Given the description of an element on the screen output the (x, y) to click on. 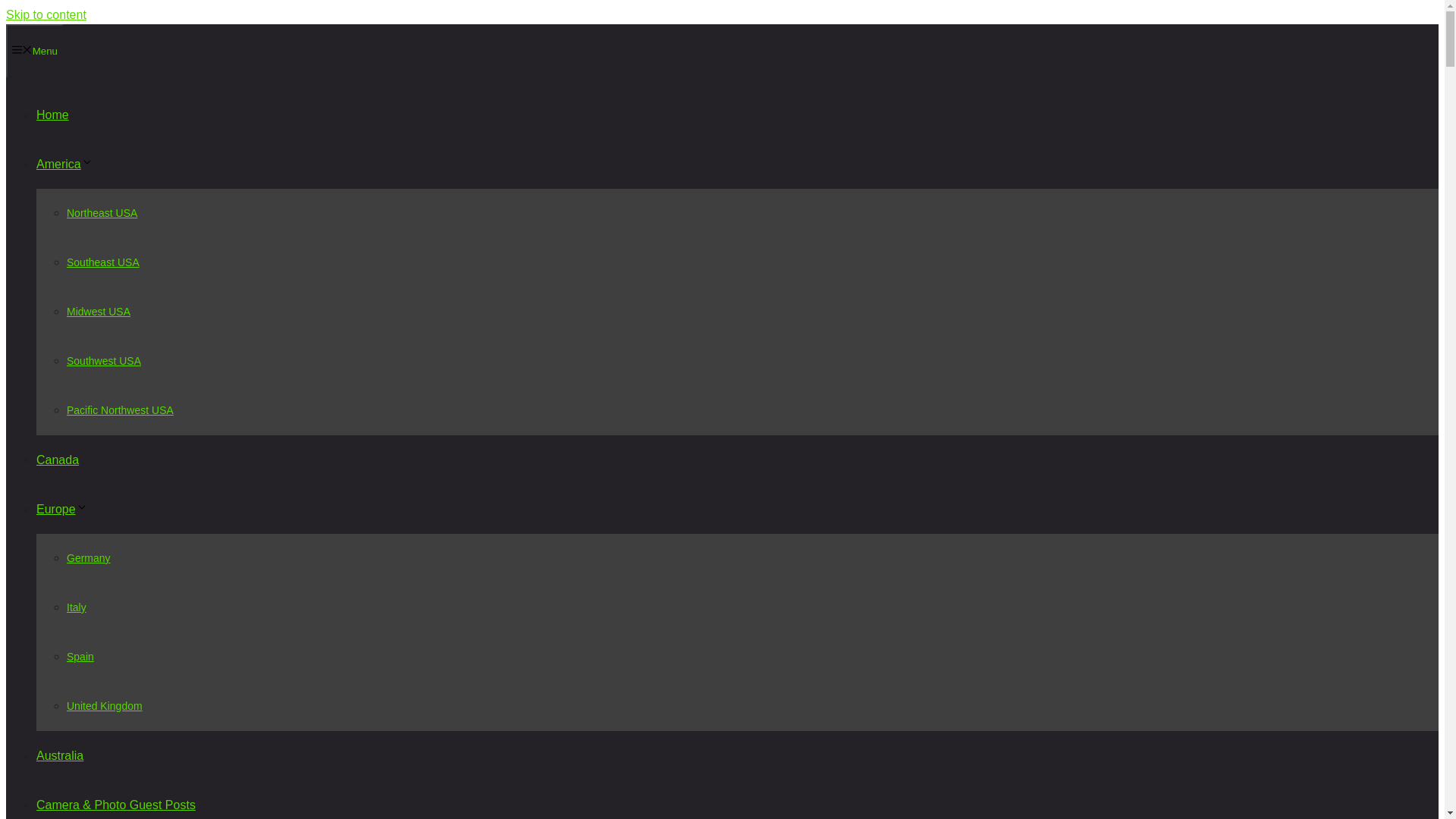
Midwest USA (98, 311)
United Kingdom (104, 705)
Australia (59, 755)
Italy (75, 607)
Spain (80, 656)
Northeast USA (101, 213)
Southwest USA (103, 360)
Home (52, 114)
Pacific Northwest USA (119, 410)
Canada (57, 459)
Skip to content (45, 14)
Southeast USA (102, 262)
Europe (61, 508)
Menu (34, 50)
Skip to content (45, 14)
